Given the description of an element on the screen output the (x, y) to click on. 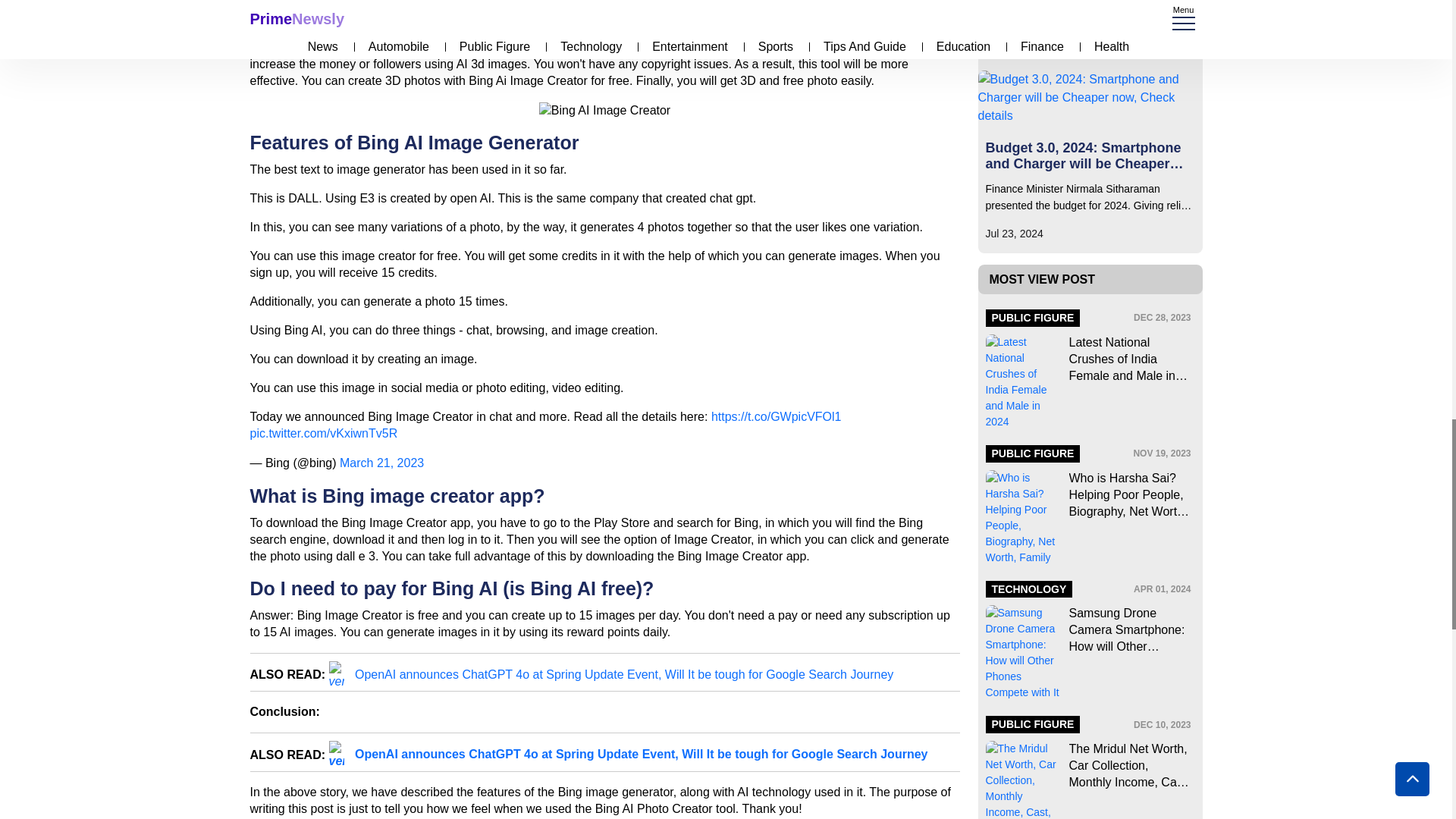
March 21, 2023 (381, 463)
